Given the description of an element on the screen output the (x, y) to click on. 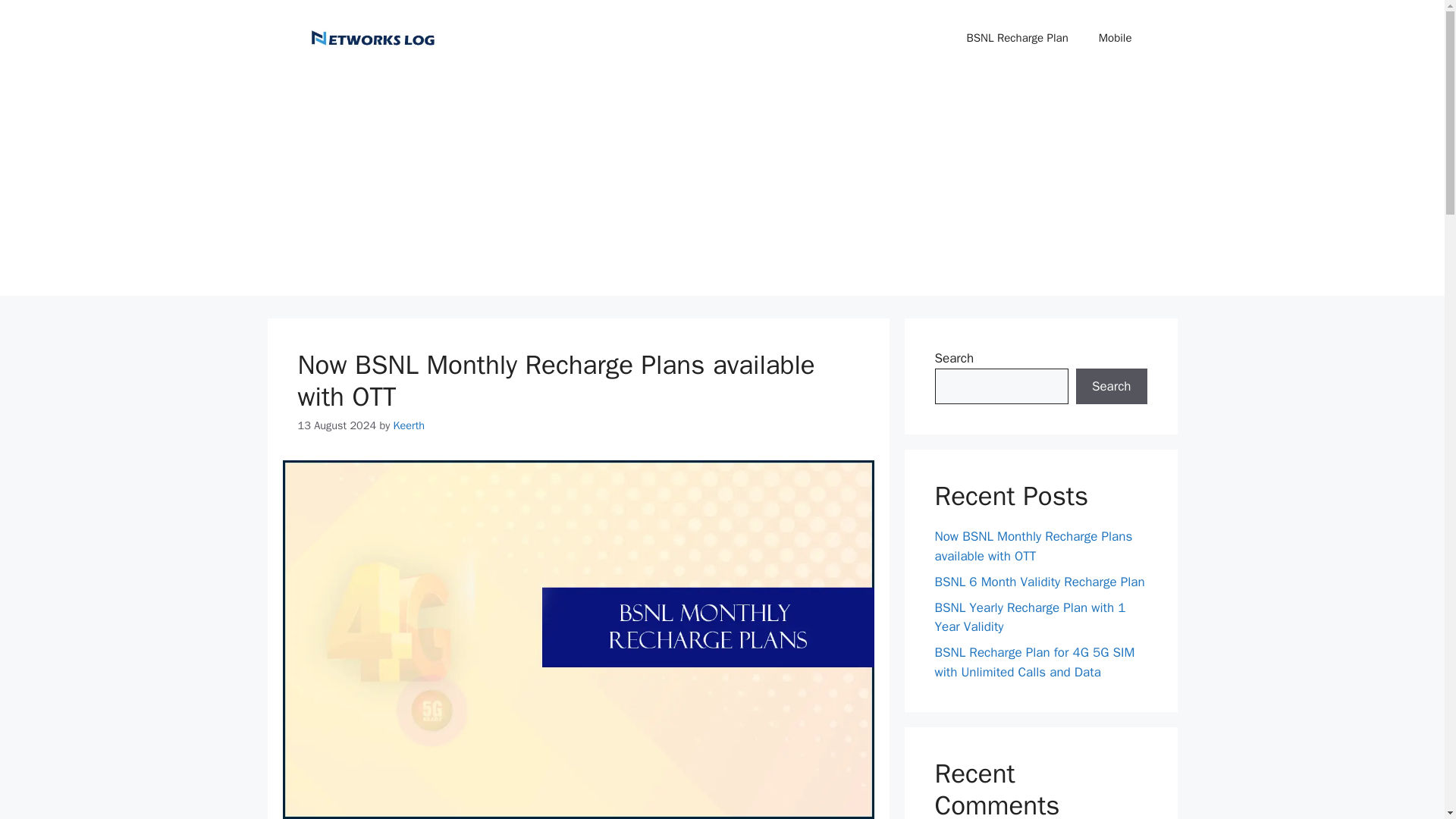
Now BSNL Monthly Recharge Plans available with OTT (555, 380)
Now BSNL Monthly Recharge Plans available with OTT (1033, 546)
View all posts by Keerth (409, 425)
Search (1111, 386)
Mobile (1115, 37)
BSNL Yearly Recharge Plan with 1 Year Validity (1029, 616)
BSNL Recharge Plan (1017, 37)
BSNL 6 Month Validity Recharge Plan (1039, 580)
